Given the description of an element on the screen output the (x, y) to click on. 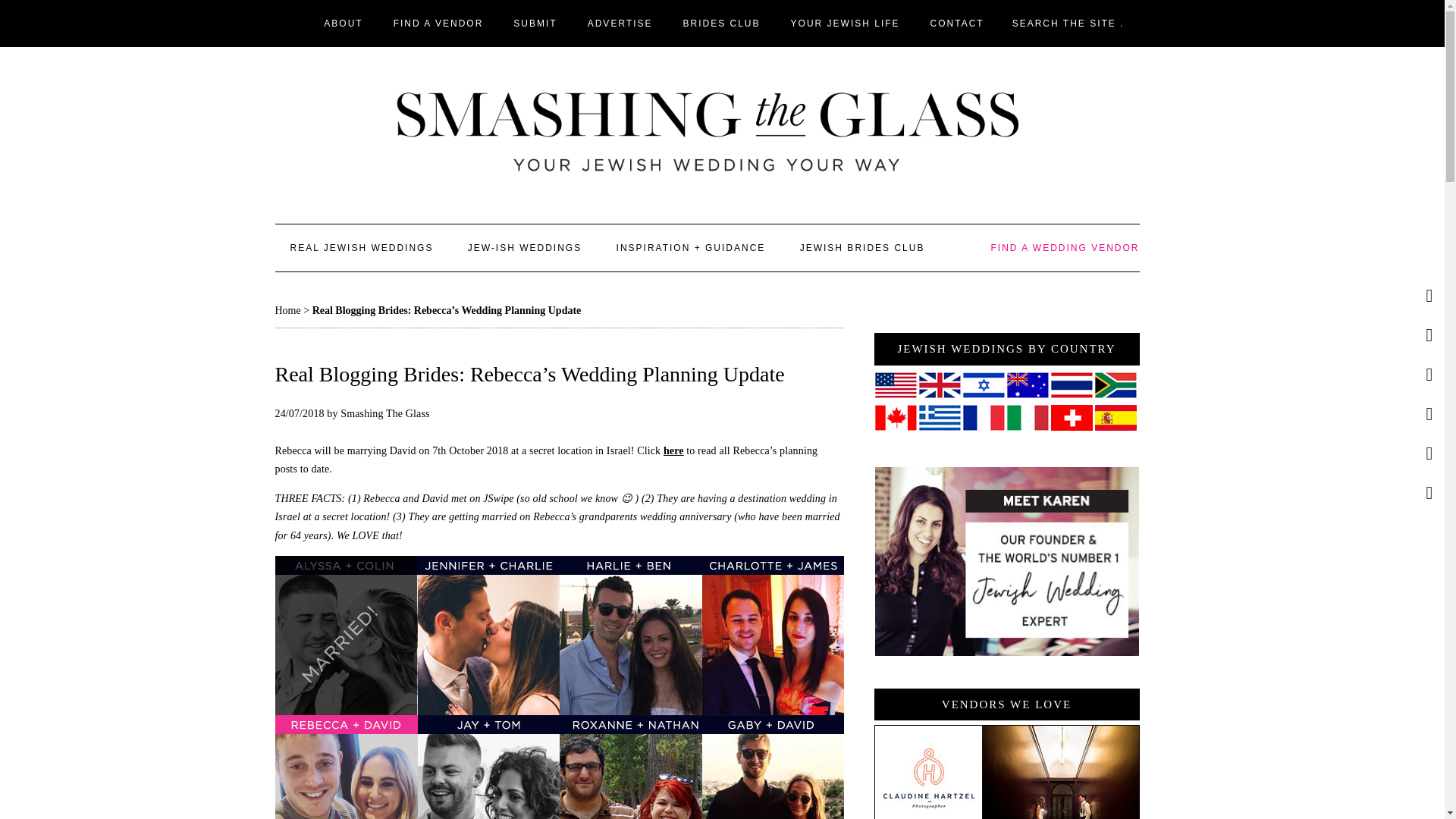
FIND A VENDOR (438, 23)
ABOUT (342, 23)
JEW-ISH WEDDINGS (524, 247)
REAL JEWISH WEDDINGS (361, 247)
BRIDES CLUB (722, 23)
CONTACT (956, 23)
SUBMIT (534, 23)
ADVERTISE (620, 23)
YOUR JEWISH LIFE (845, 23)
